Given the description of an element on the screen output the (x, y) to click on. 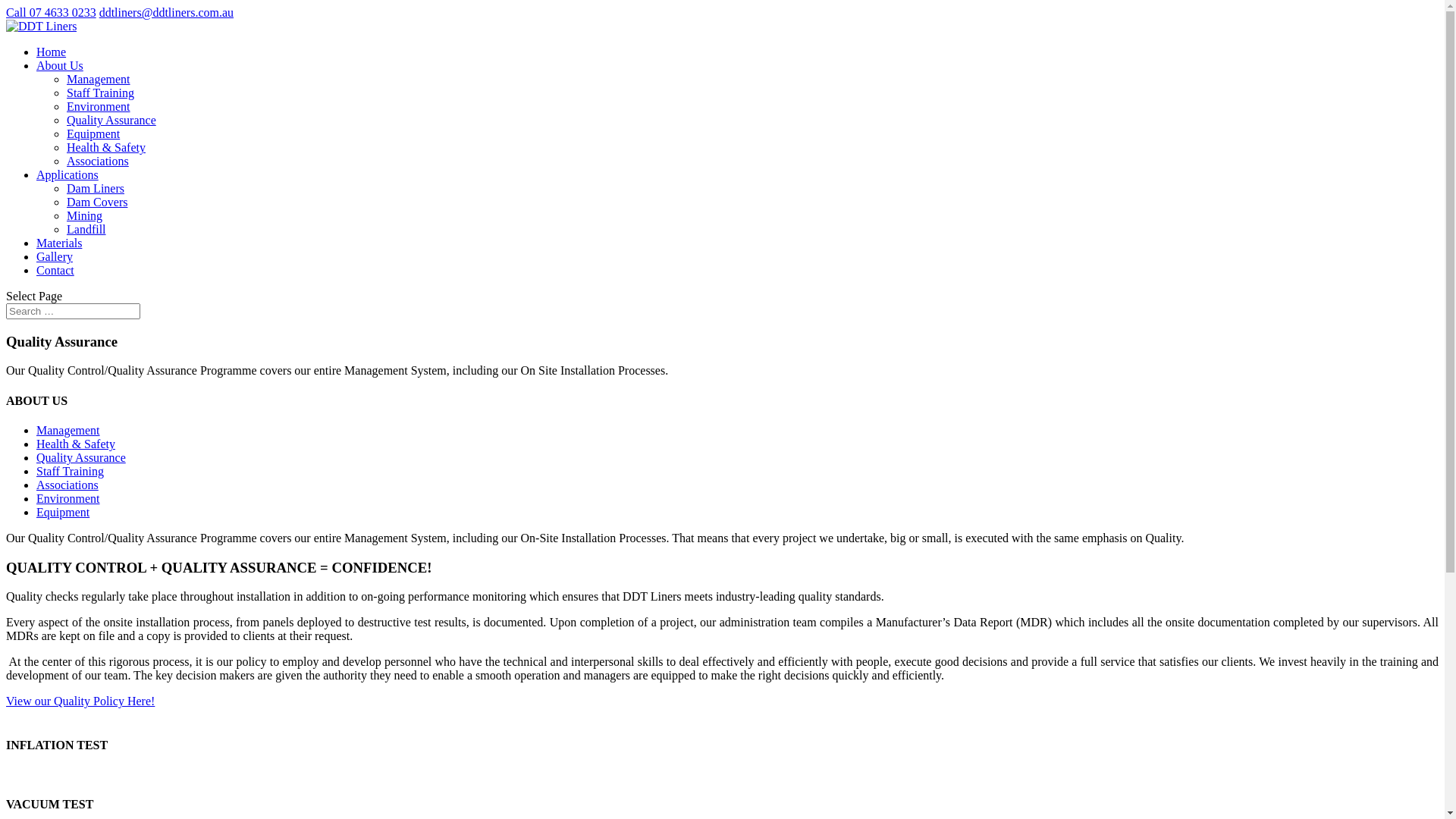
ddtliners@ddtliners.com.au Element type: text (166, 12)
Quality Assurance Element type: text (80, 457)
Staff Training Element type: text (69, 470)
Home Element type: text (50, 51)
Search for: Element type: hover (73, 311)
Dam Liners Element type: text (95, 188)
Associations Element type: text (97, 160)
Landfill Element type: text (86, 228)
Quality Assurance Element type: text (111, 119)
Management Element type: text (68, 429)
Contact Element type: text (55, 269)
About Us Element type: text (59, 65)
View our Quality Policy Here! Element type: text (80, 700)
Mining Element type: text (84, 215)
Environment Element type: text (68, 498)
Environment Element type: text (98, 106)
Equipment Element type: text (92, 133)
Management Element type: text (98, 78)
Health & Safety Element type: text (75, 443)
Health & Safety Element type: text (105, 147)
Gallery Element type: text (54, 256)
Materials Element type: text (58, 242)
Associations Element type: text (67, 484)
Applications Element type: text (67, 174)
Equipment Element type: text (62, 511)
Call 07 4633 0233 Element type: text (51, 12)
Dam Covers Element type: text (96, 201)
Staff Training Element type: text (100, 92)
